Given the description of an element on the screen output the (x, y) to click on. 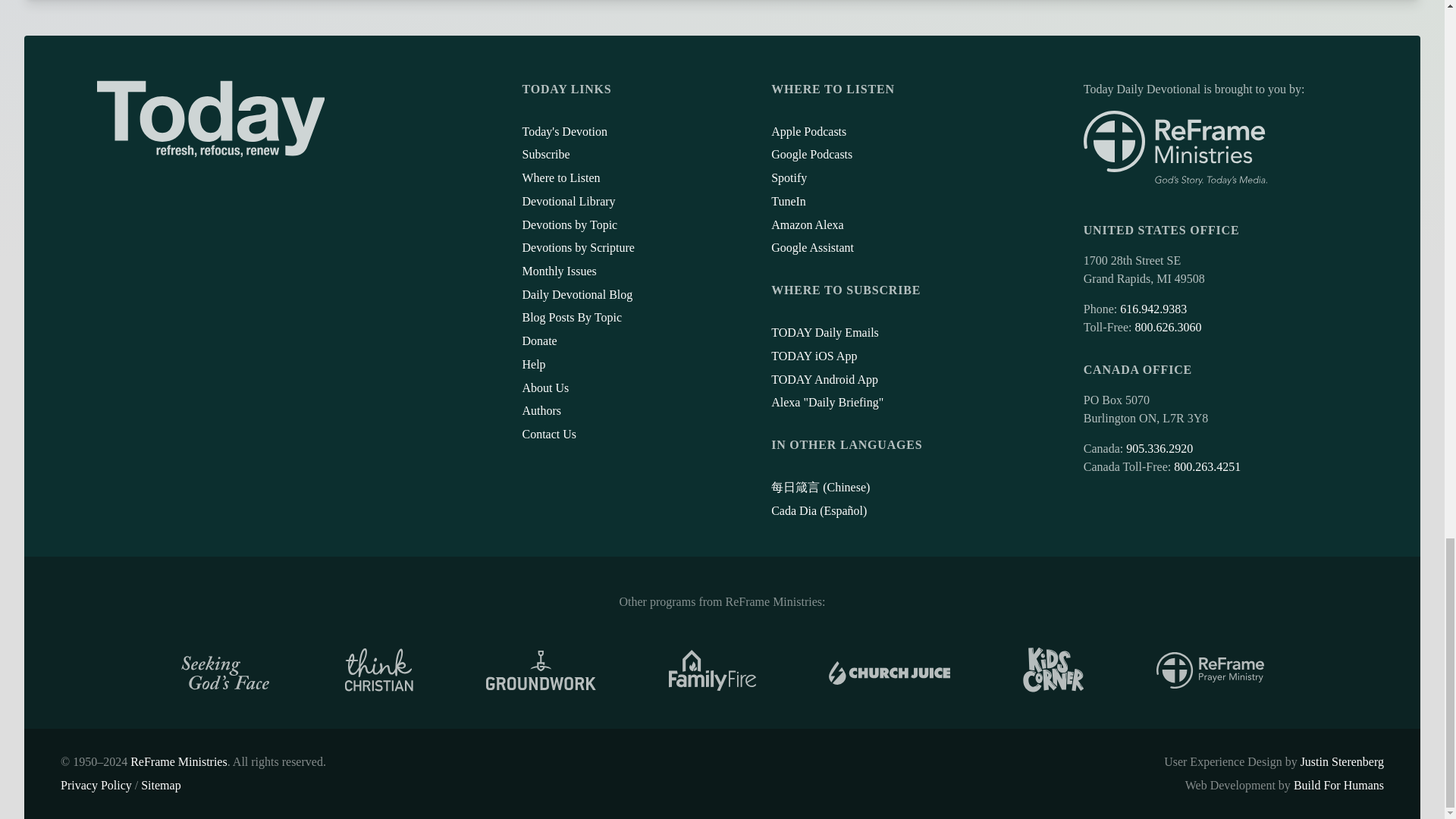
Where to Listen (560, 177)
ReFrame Ministries: God's story. Today's media. (1174, 147)
Devotions by Scripture (577, 246)
Prayer Ministry (1209, 669)
Devotions by Topic (569, 224)
Donate (538, 340)
Subscribe (545, 154)
Church Juice - Energizing Church Communications (888, 669)
Monthly Issues (558, 270)
Help (532, 364)
Today's Devotion (564, 131)
Devotional Library (567, 201)
